Given the description of an element on the screen output the (x, y) to click on. 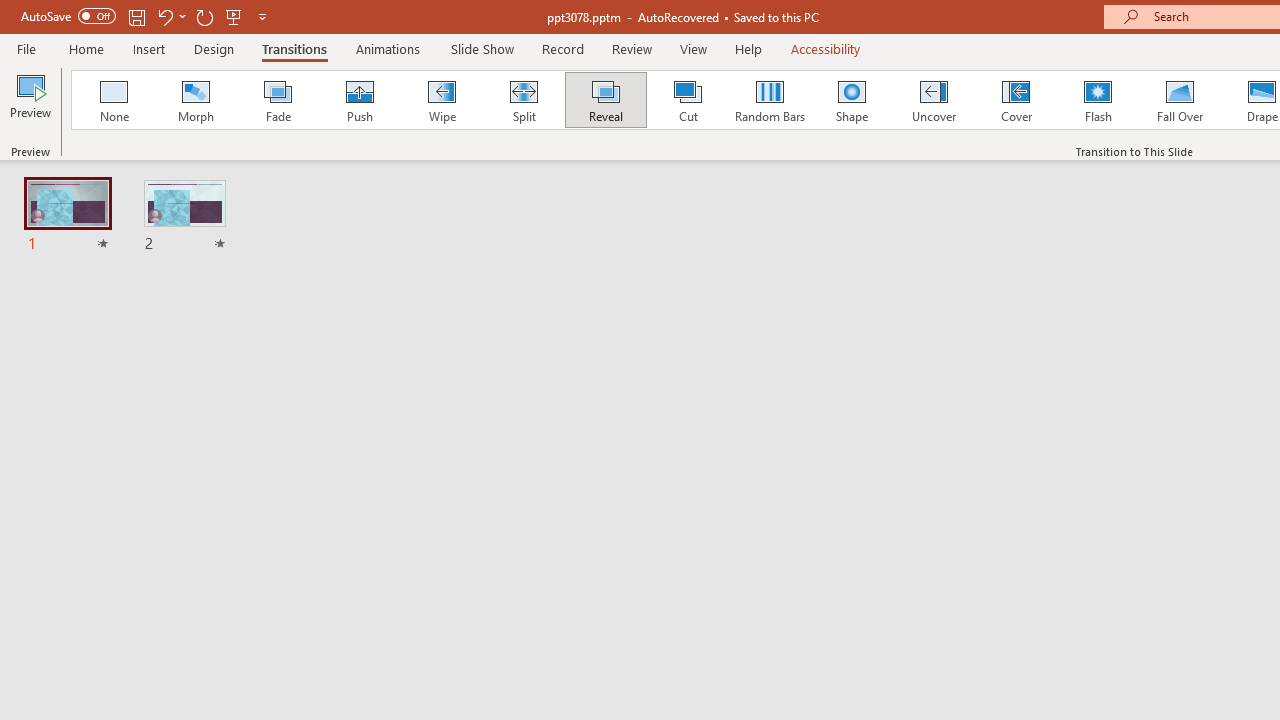
Wipe (441, 100)
Reveal (605, 100)
Fade (277, 100)
Flash (1098, 100)
Push (359, 100)
Shape (852, 100)
